Given the description of an element on the screen output the (x, y) to click on. 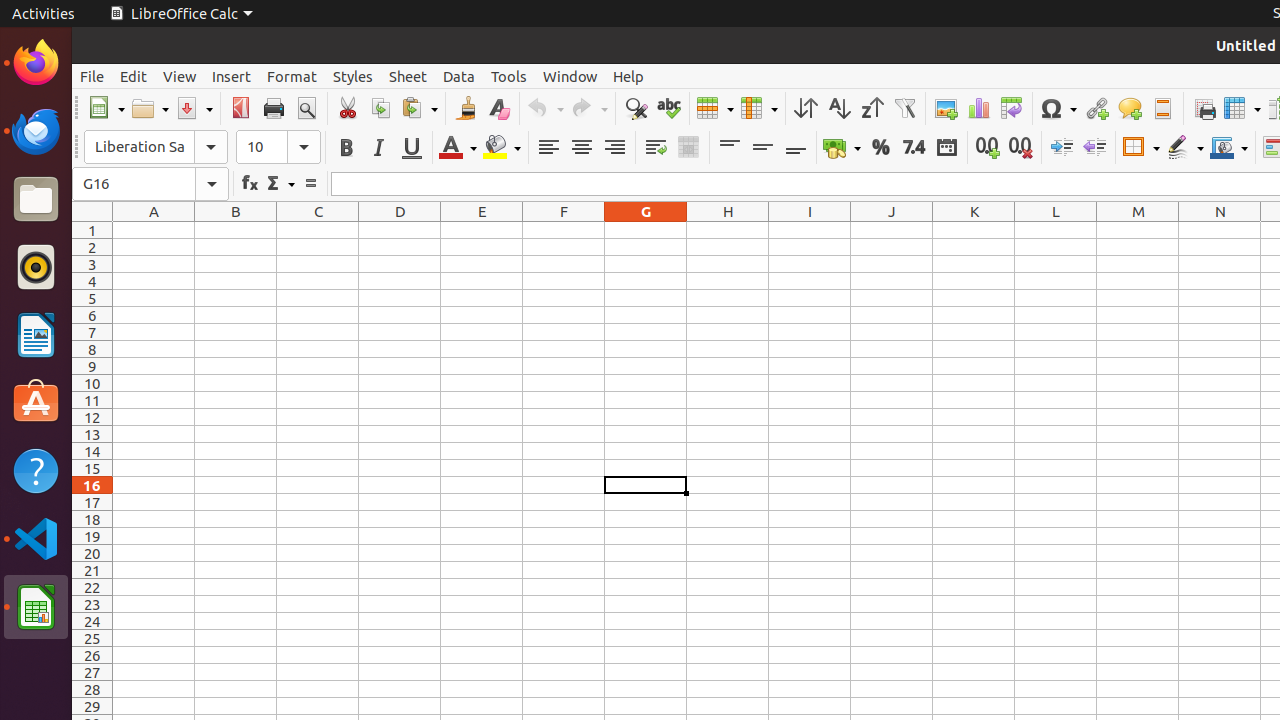
Headers and Footers Element type: push-button (1162, 108)
J1 Element type: table-cell (892, 230)
Number Element type: push-button (913, 147)
G1 Element type: table-cell (646, 230)
Paste Element type: push-button (419, 108)
